Given the description of an element on the screen output the (x, y) to click on. 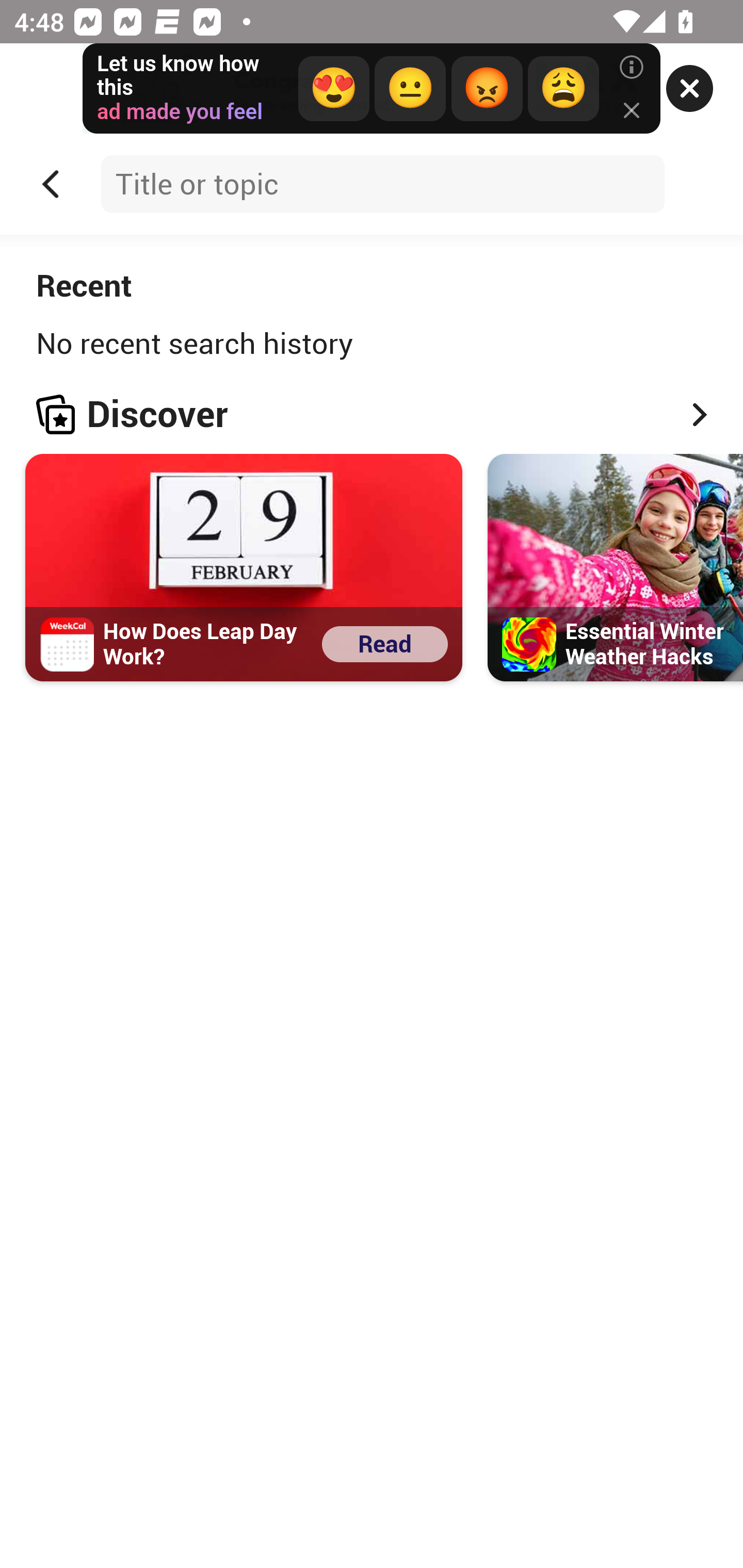
app-monetization (371, 88)
😍 (333, 88)
😐 (409, 88)
😡 (487, 88)
😩 (562, 88)
Collapse (50, 184)
Title or topic (382, 184)
Discover (371, 413)
How Does Leap Day Work?  Read (243, 567)
Essential Winter Weather Hacks (615, 567)
Read (384, 643)
